Given the description of an element on the screen output the (x, y) to click on. 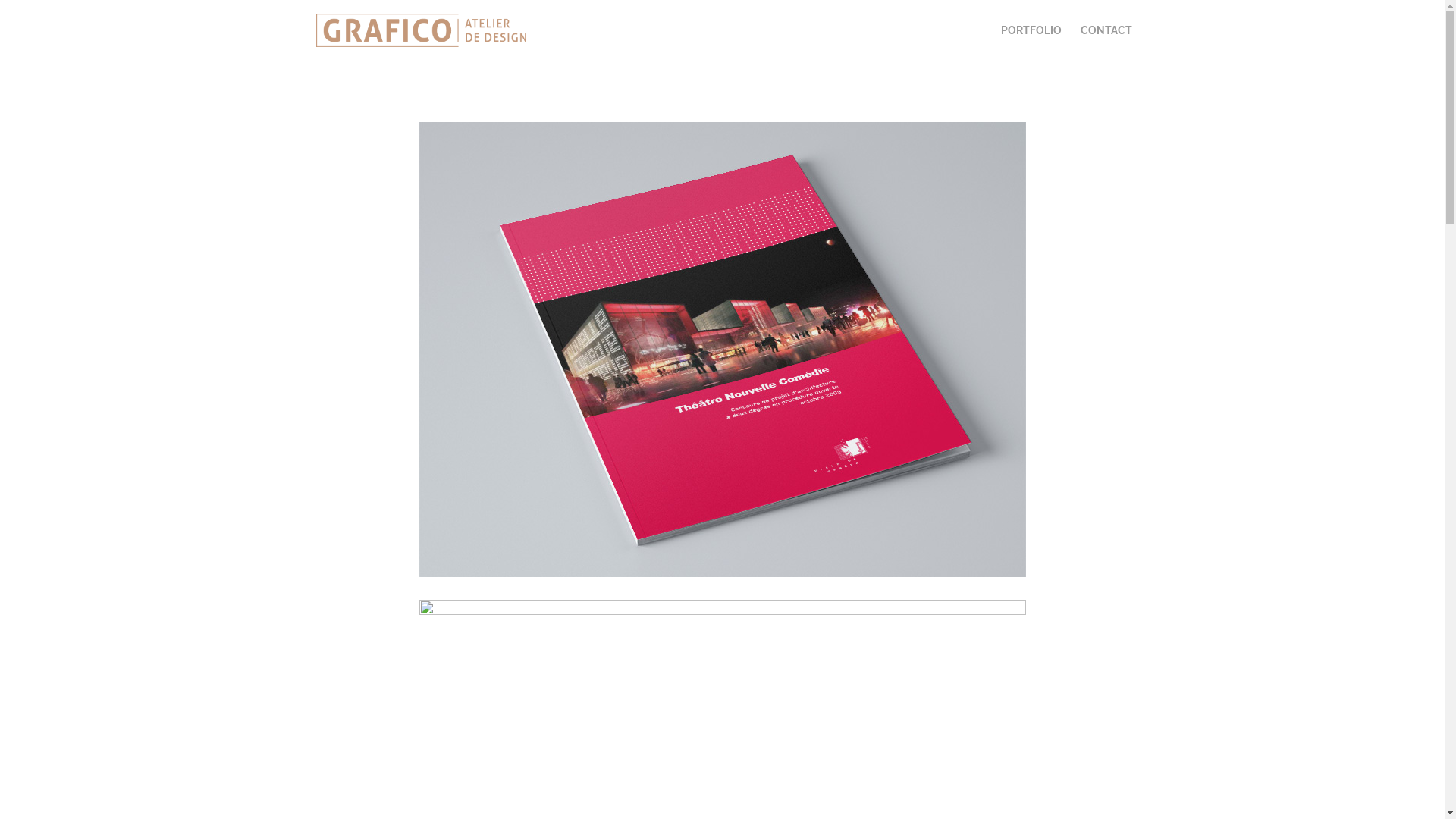
 PORTFOLIO Element type: text (1028, 42)
CONTACT Element type: text (1105, 42)
